Given the description of an element on the screen output the (x, y) to click on. 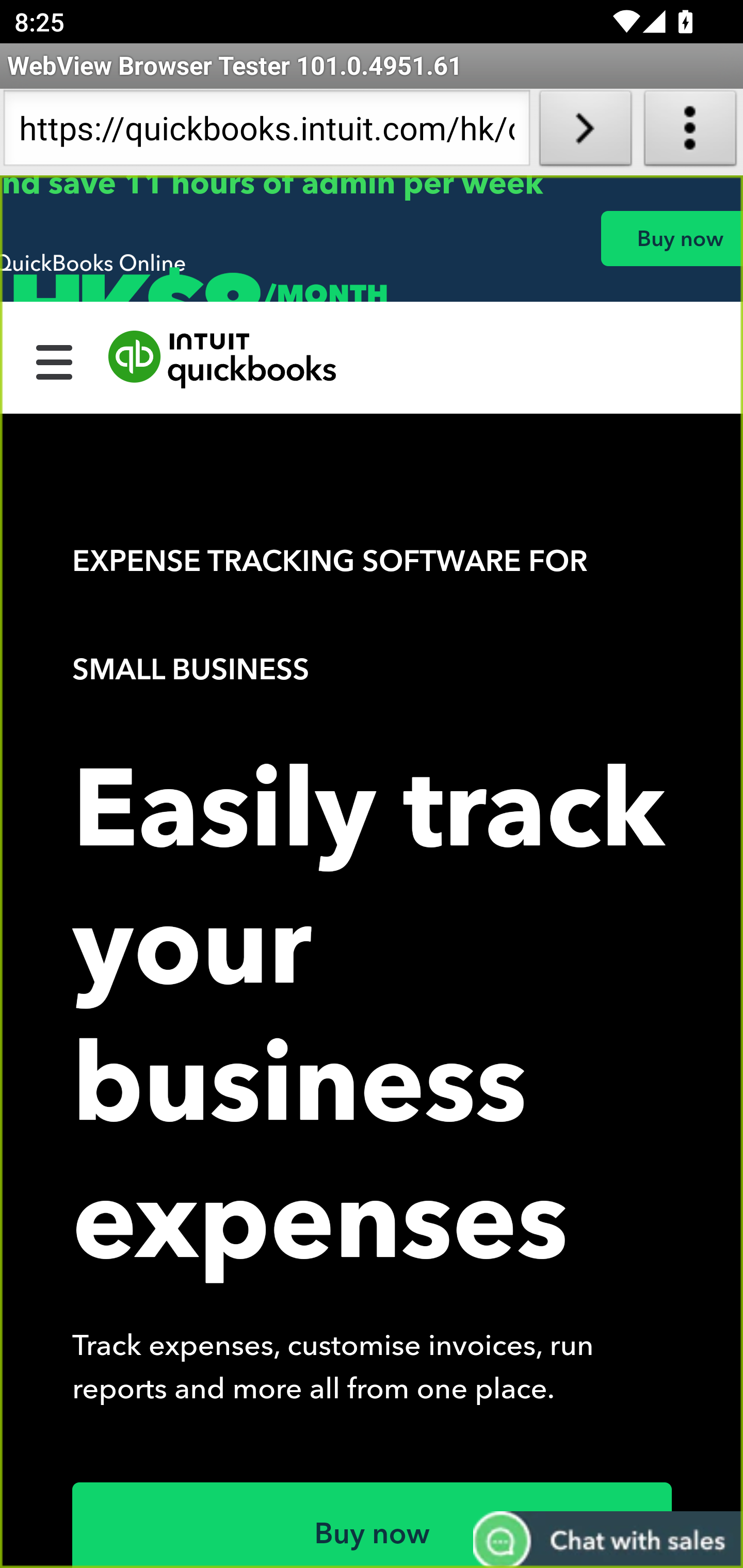
Load URL (585, 132)
About WebView (690, 132)
Buy now (671, 238)
quickbooks-mobile-burger (54, 359)
quickbooks (222, 359)
Buy now (372, 1524)
